Given the description of an element on the screen output the (x, y) to click on. 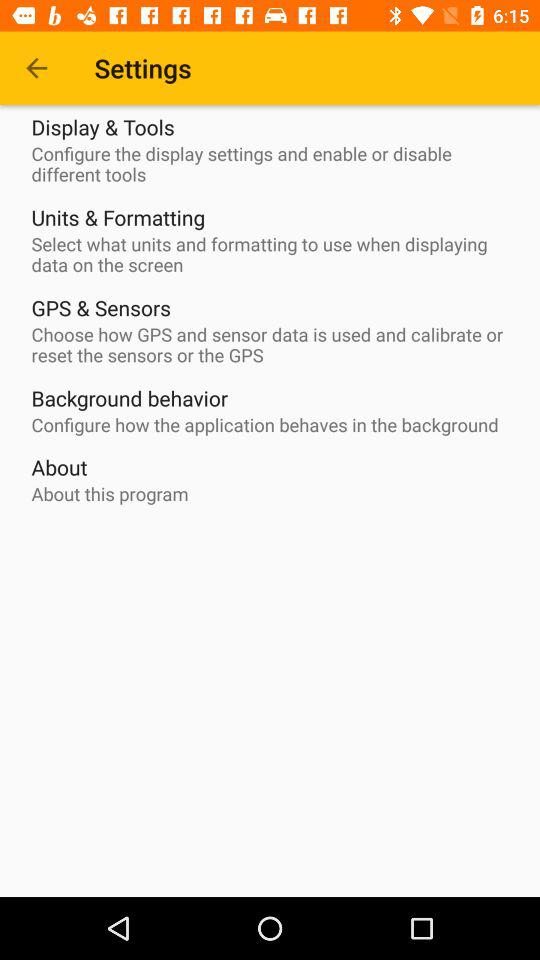
swipe to about this program item (109, 493)
